Given the description of an element on the screen output the (x, y) to click on. 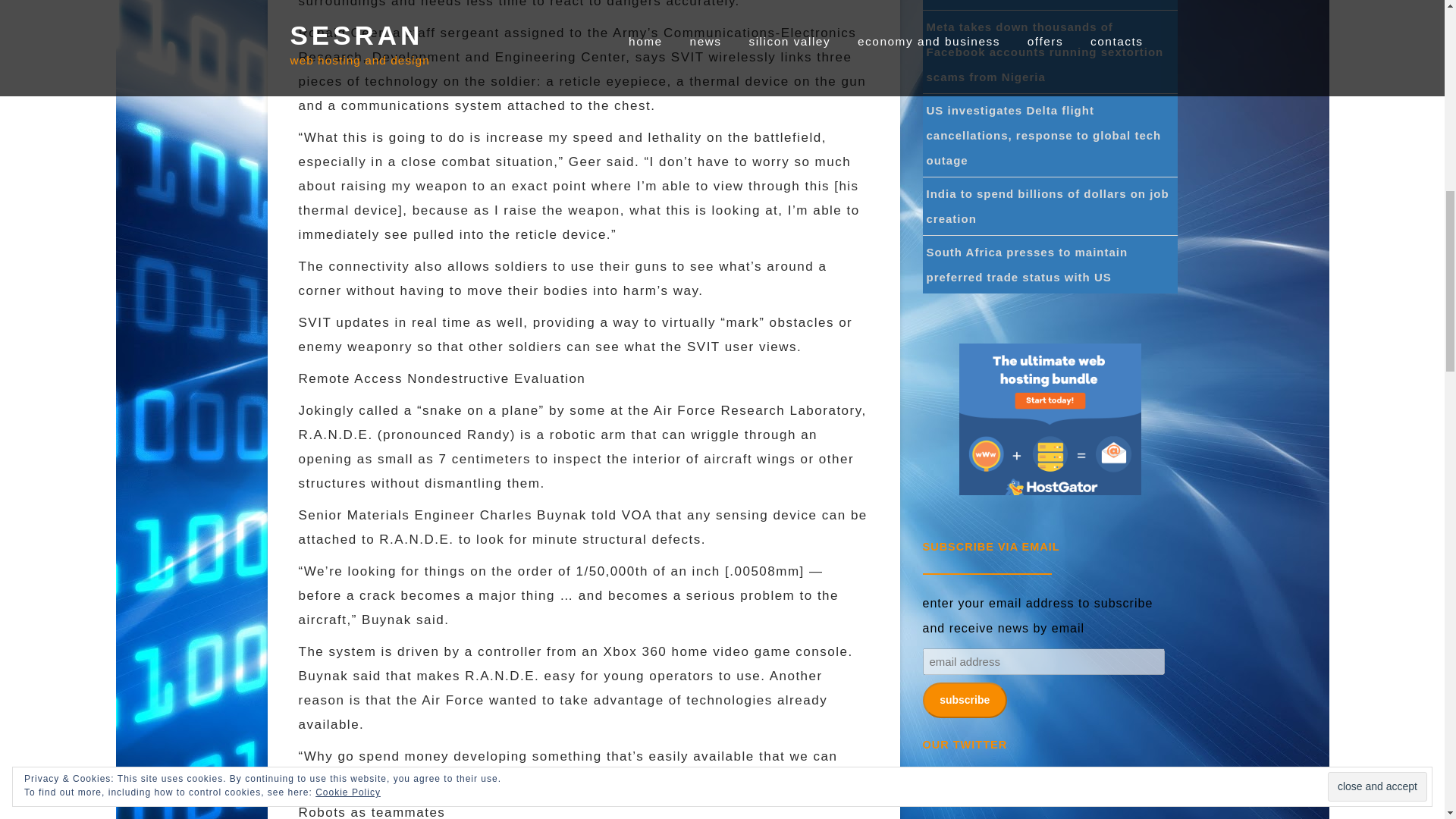
India to spend billions of dollars on job creation (1047, 206)
subscribe (963, 700)
